Given the description of an element on the screen output the (x, y) to click on. 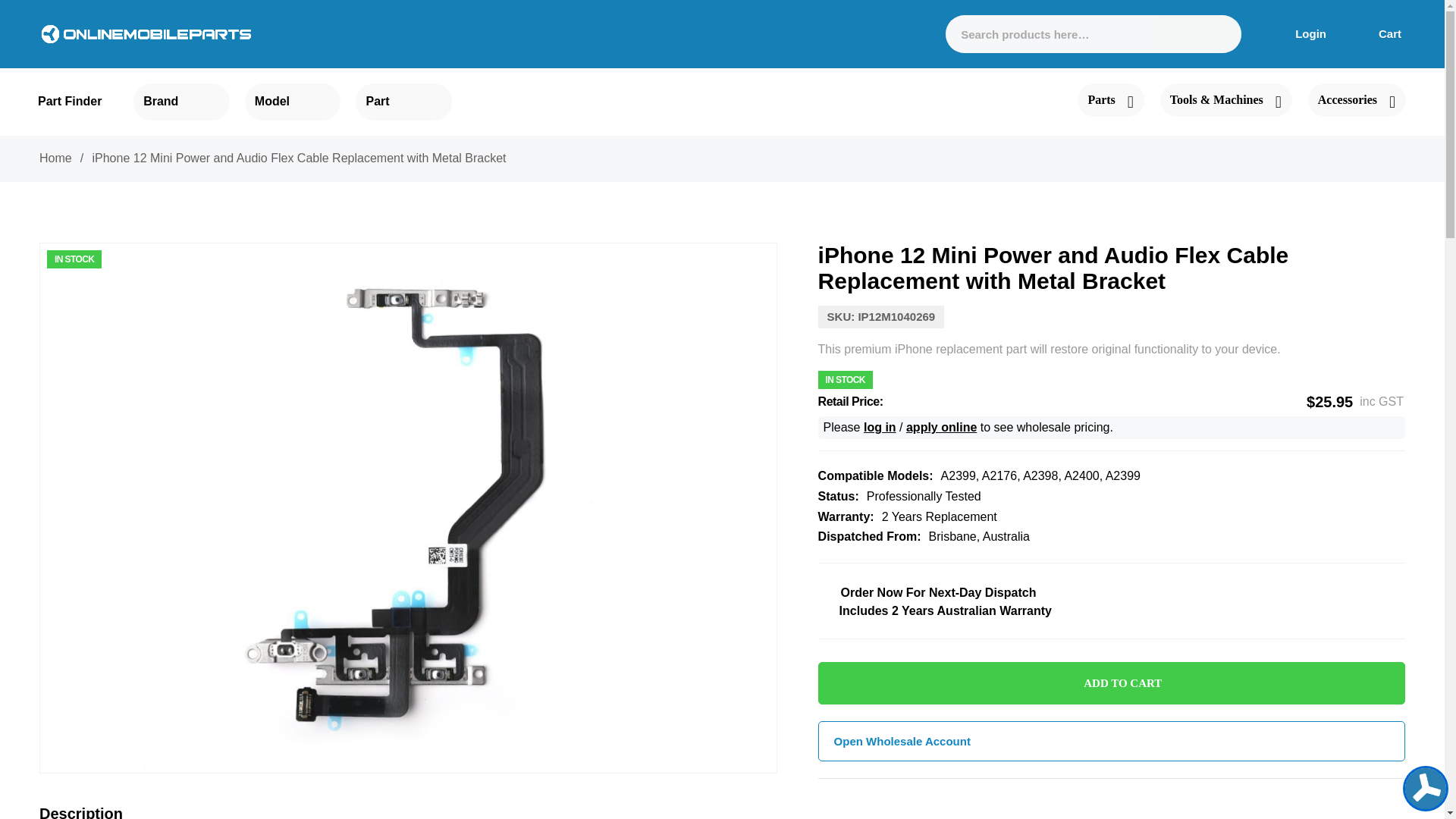
Login (1299, 33)
My Account (1299, 33)
Parts (1109, 100)
Online Mobile Parts Logo (146, 33)
Cart (1380, 33)
Add to Cart (1111, 682)
Search (1216, 34)
Go to Home Page (55, 157)
